Given the description of an element on the screen output the (x, y) to click on. 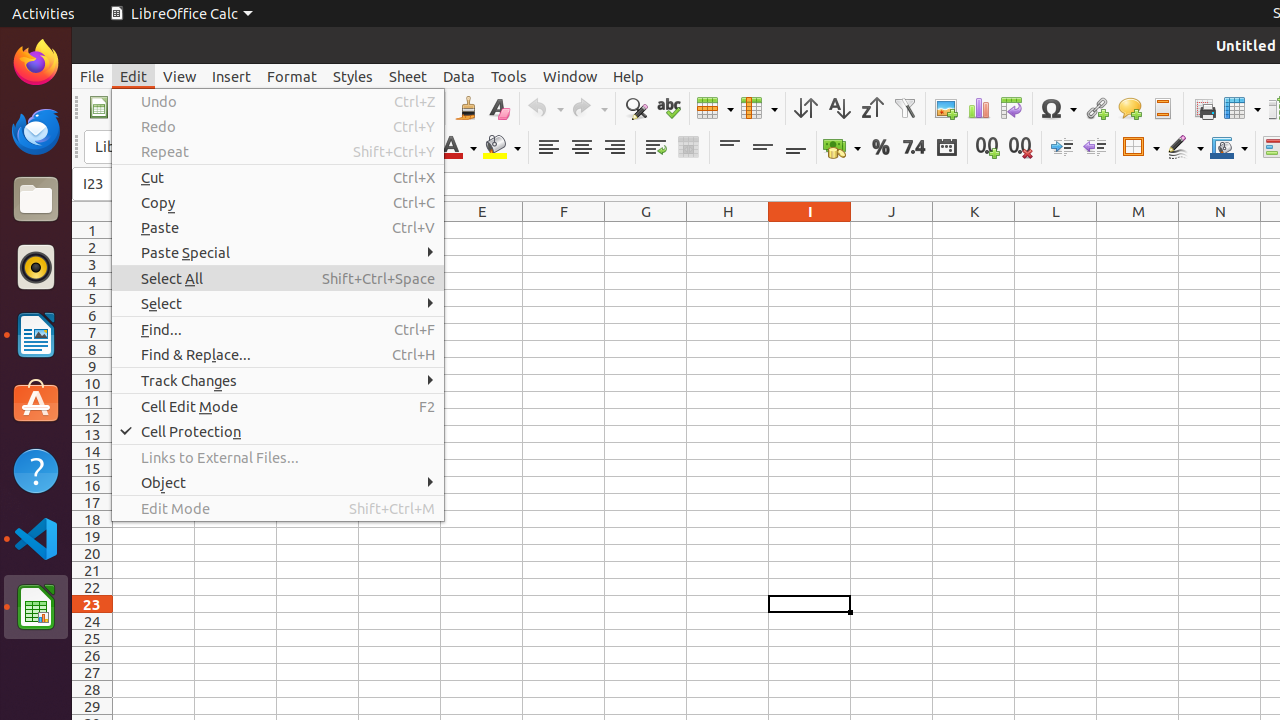
Wrap Text Element type: push-button (655, 147)
Undo Element type: menu-item (278, 101)
Cell Edit Mode Element type: menu-item (278, 406)
I1 Element type: table-cell (810, 230)
